Given the description of an element on the screen output the (x, y) to click on. 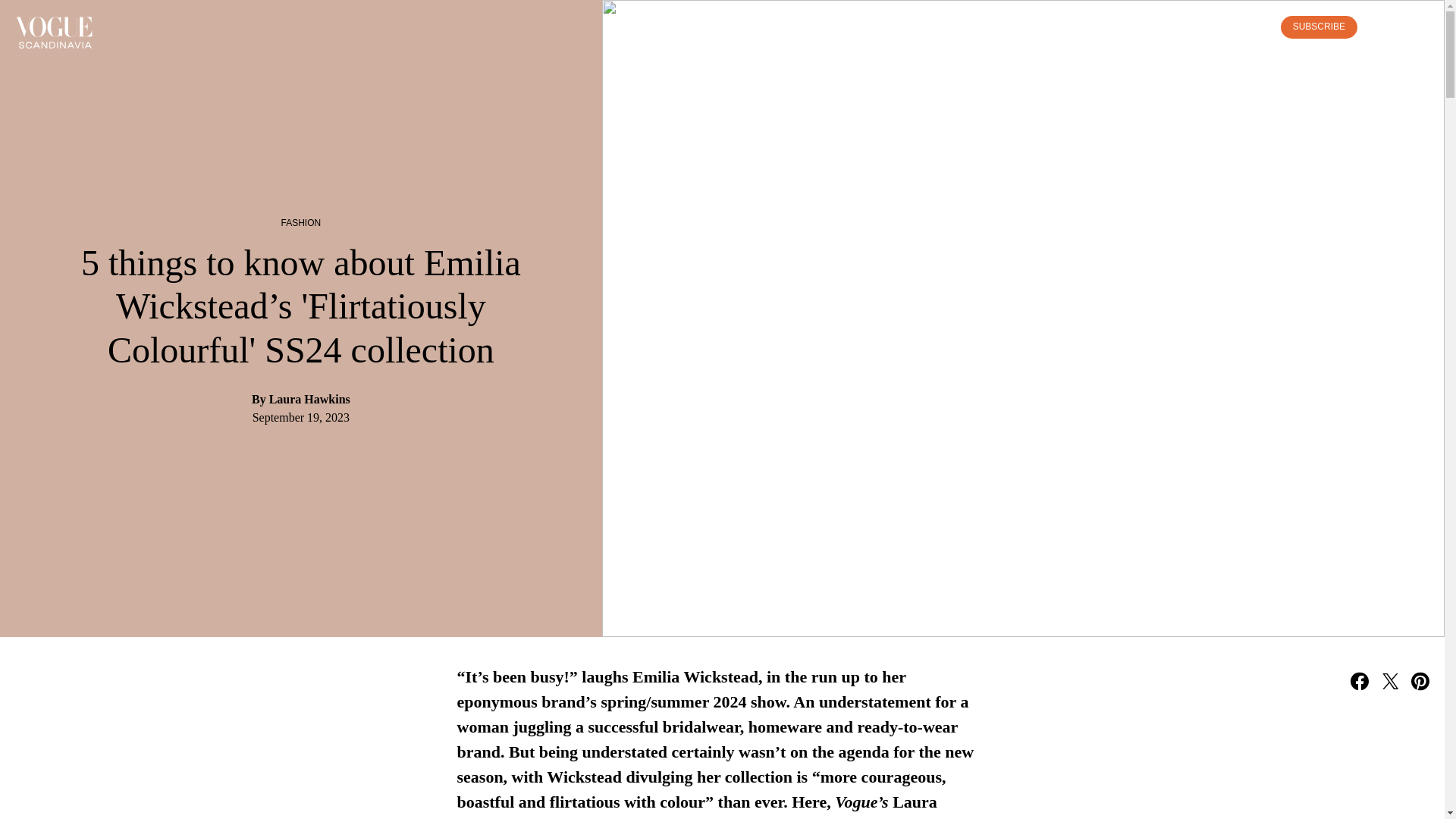
By Laura Hawkins (300, 398)
SUBSCRIBE (1318, 26)
LOGIN (1247, 26)
